Given the description of an element on the screen output the (x, y) to click on. 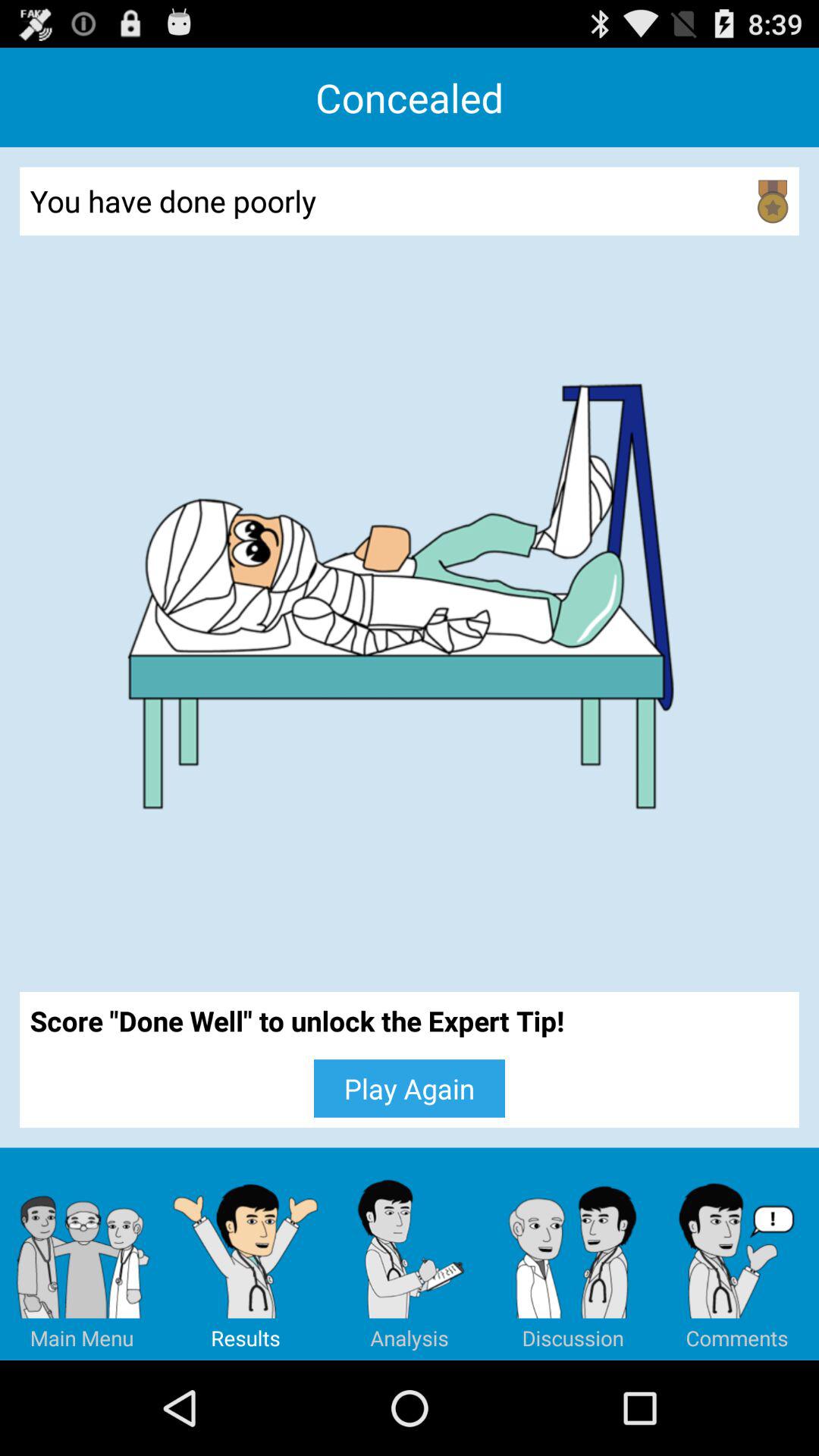
tap item below the play again item (409, 1253)
